Given the description of an element on the screen output the (x, y) to click on. 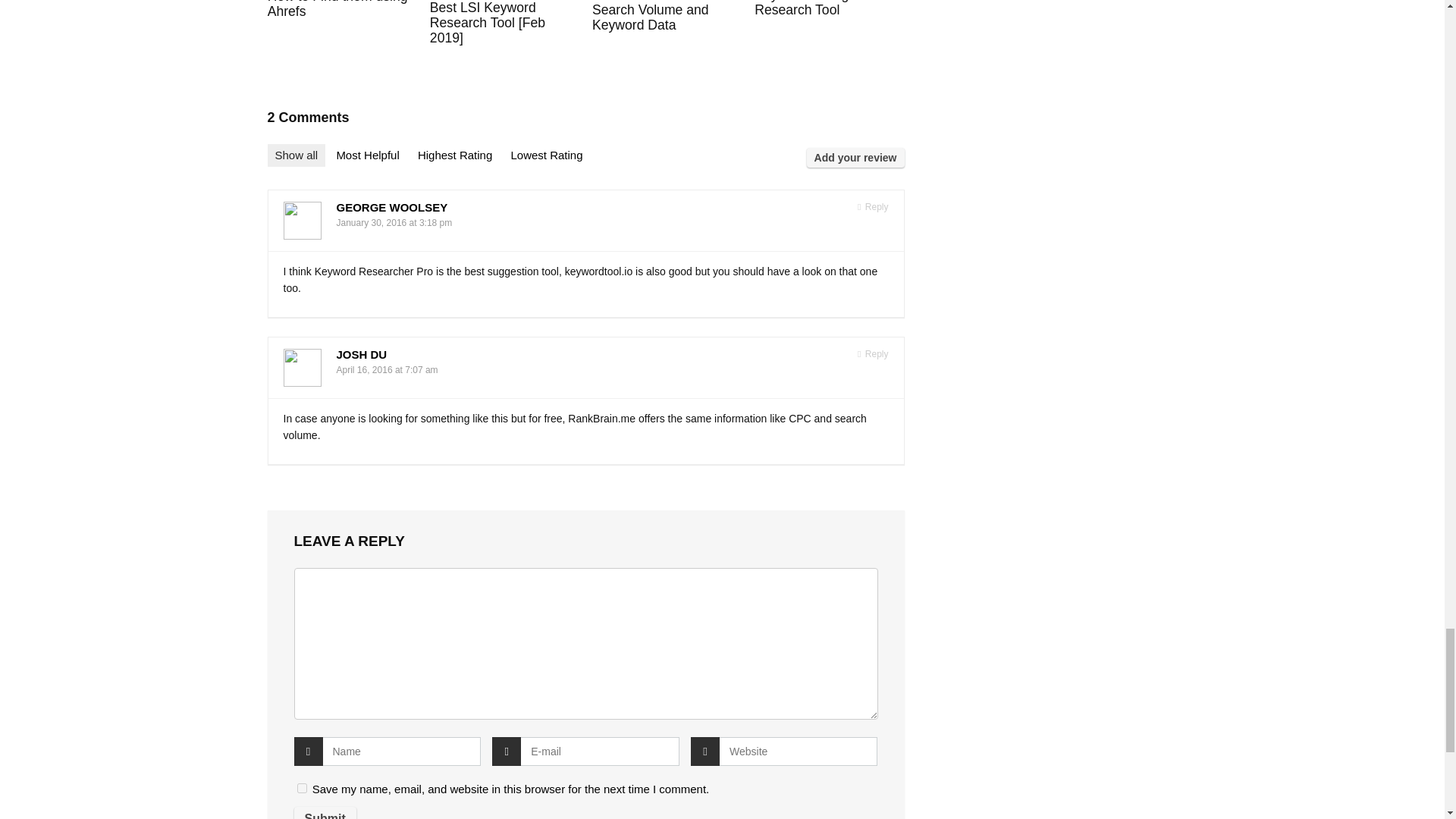
Submit (325, 812)
Add your review (855, 157)
Add your review (855, 157)
yes (302, 787)
